Given the description of an element on the screen output the (x, y) to click on. 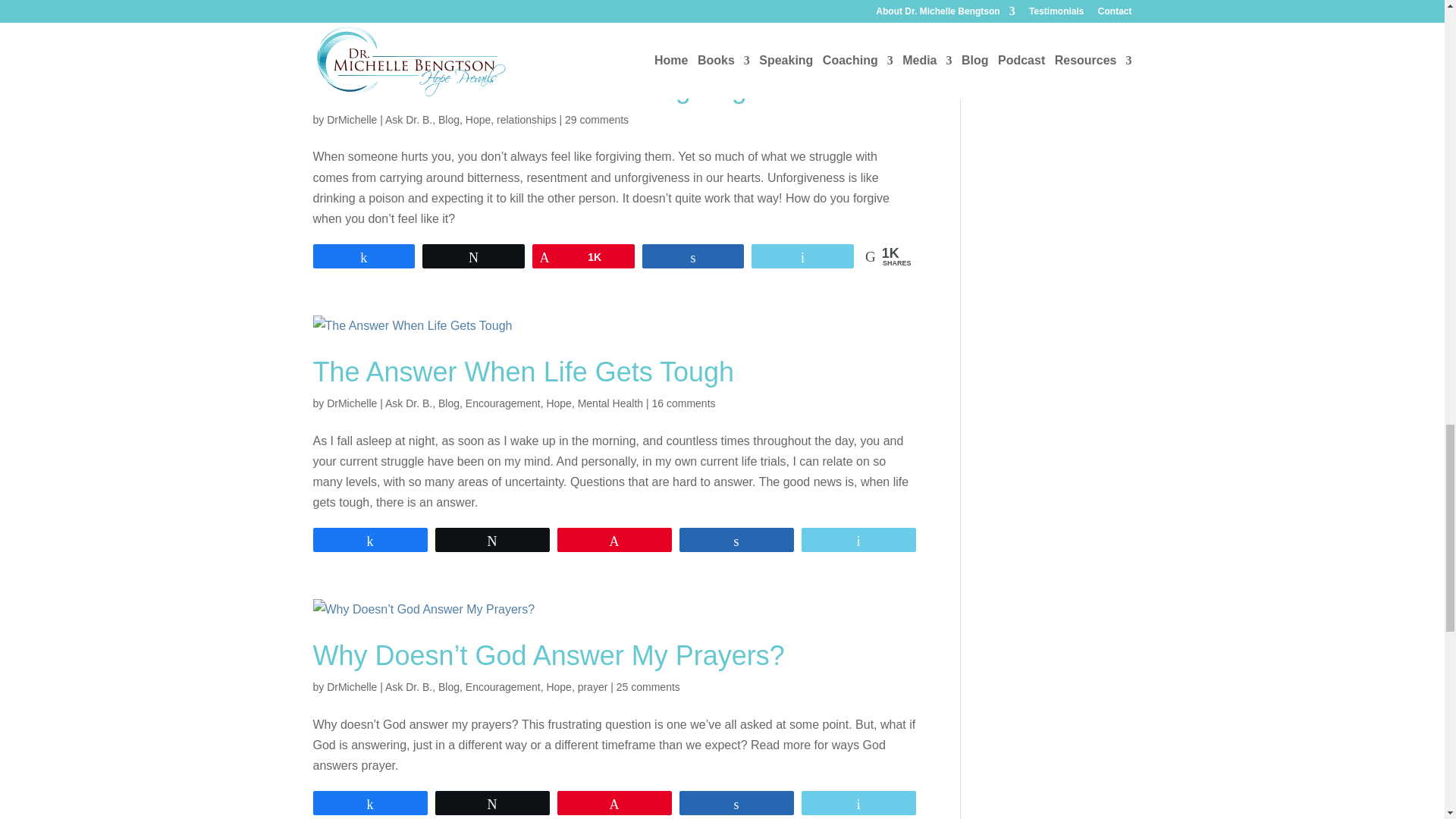
Posts by DrMichelle (351, 403)
Posts by DrMichelle (351, 119)
Posts by DrMichelle (351, 686)
